Given the description of an element on the screen output the (x, y) to click on. 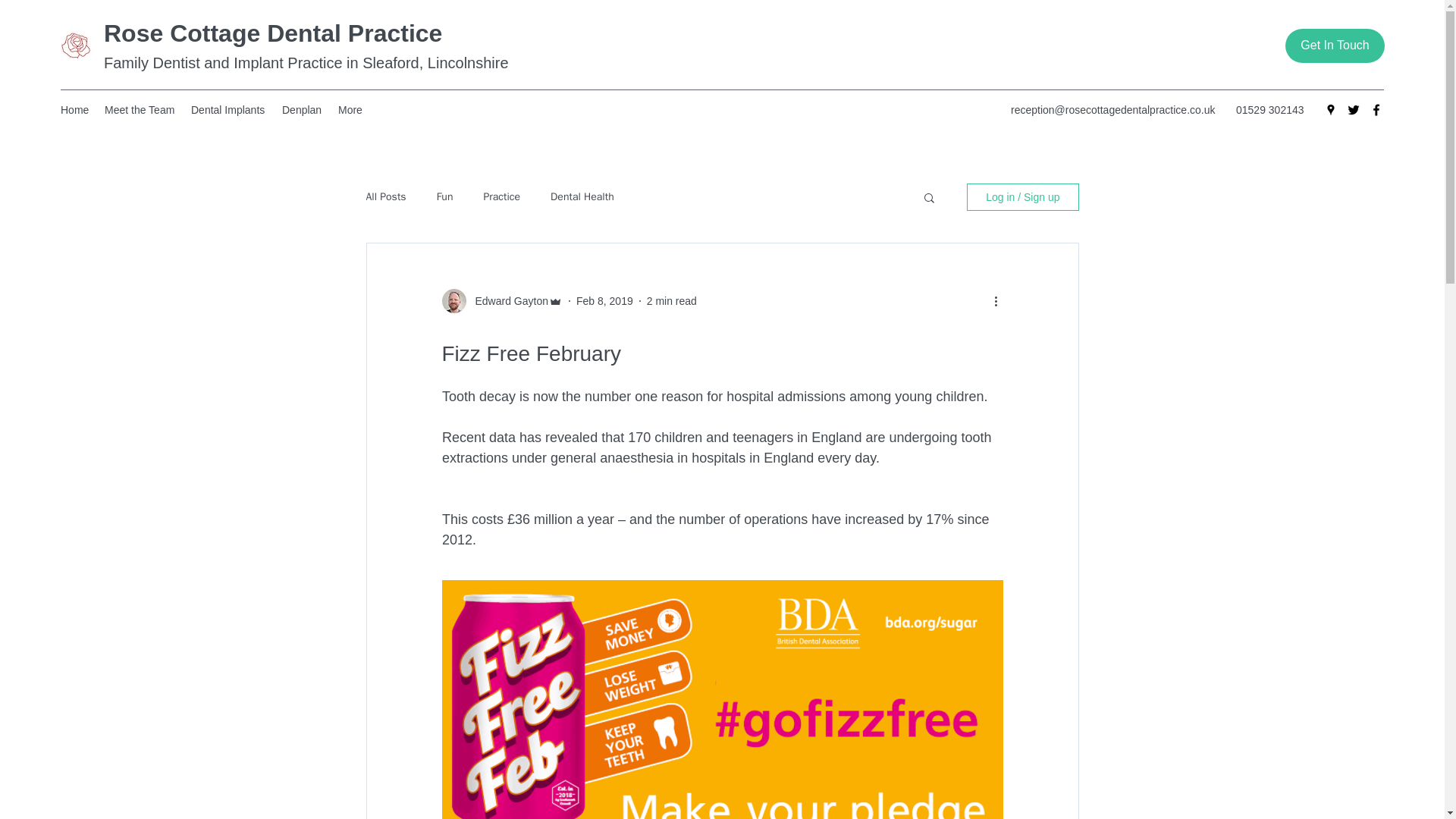
Feb 8, 2019 (604, 300)
Get In Touch (1334, 45)
Edward Gayton (506, 300)
Denplan (302, 109)
All Posts (385, 196)
2 min read (671, 300)
Dental Health (582, 196)
Fun (444, 196)
Home (74, 109)
Dental Implants (229, 109)
Meet the Team (140, 109)
Practice (501, 196)
